Given the description of an element on the screen output the (x, y) to click on. 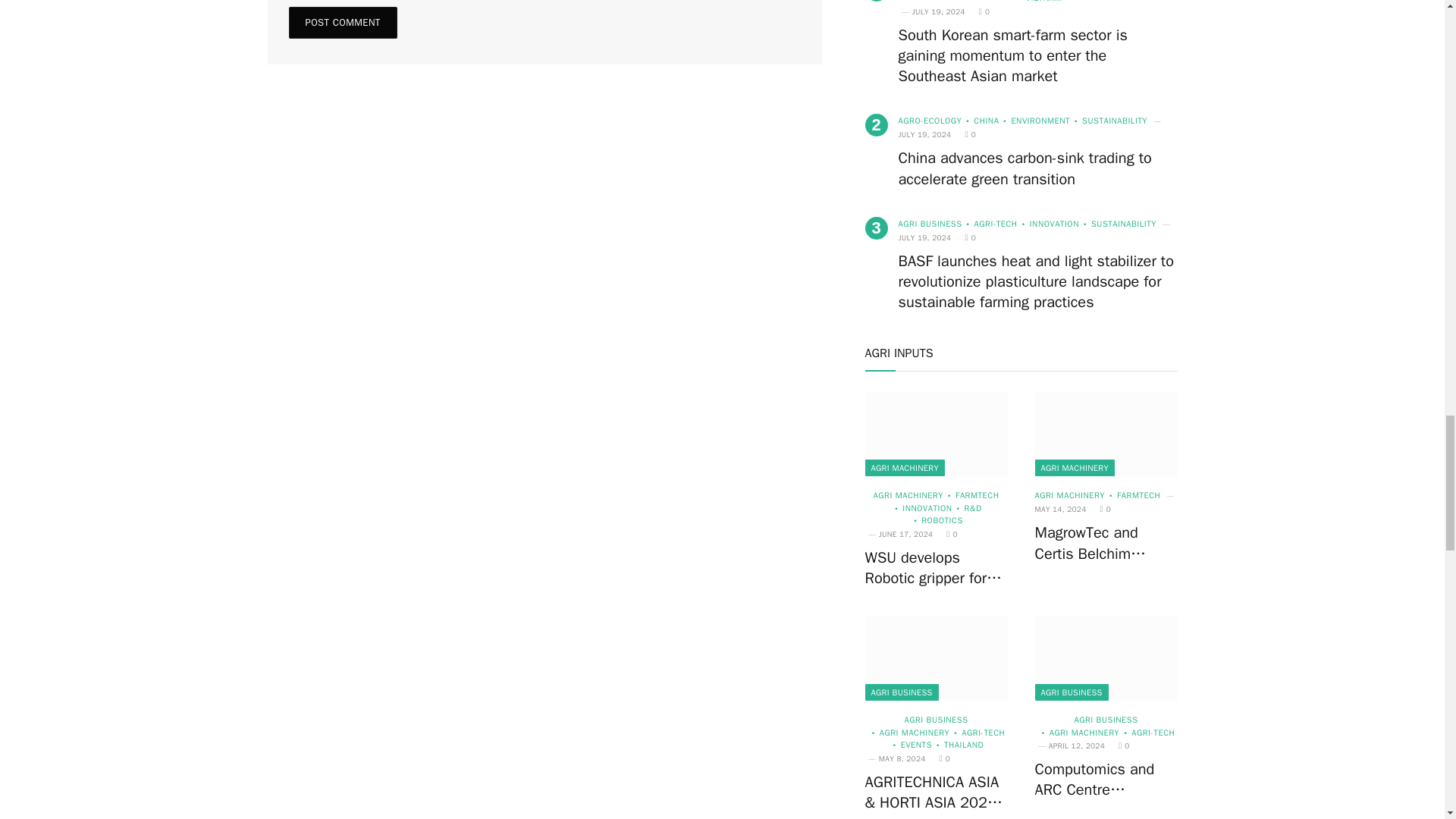
Post Comment (342, 22)
